Given the description of an element on the screen output the (x, y) to click on. 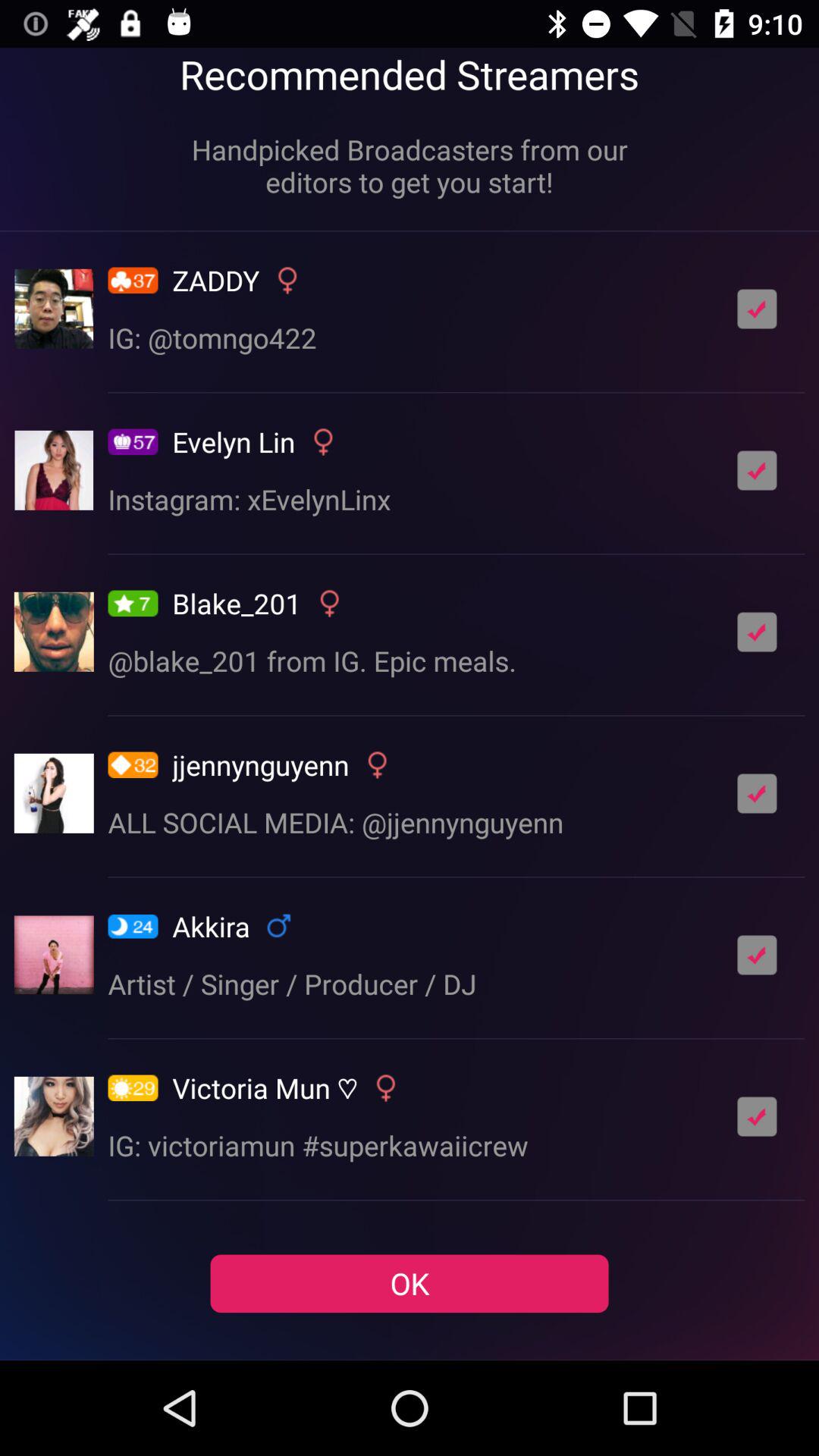
select streamer (756, 793)
